Given the description of an element on the screen output the (x, y) to click on. 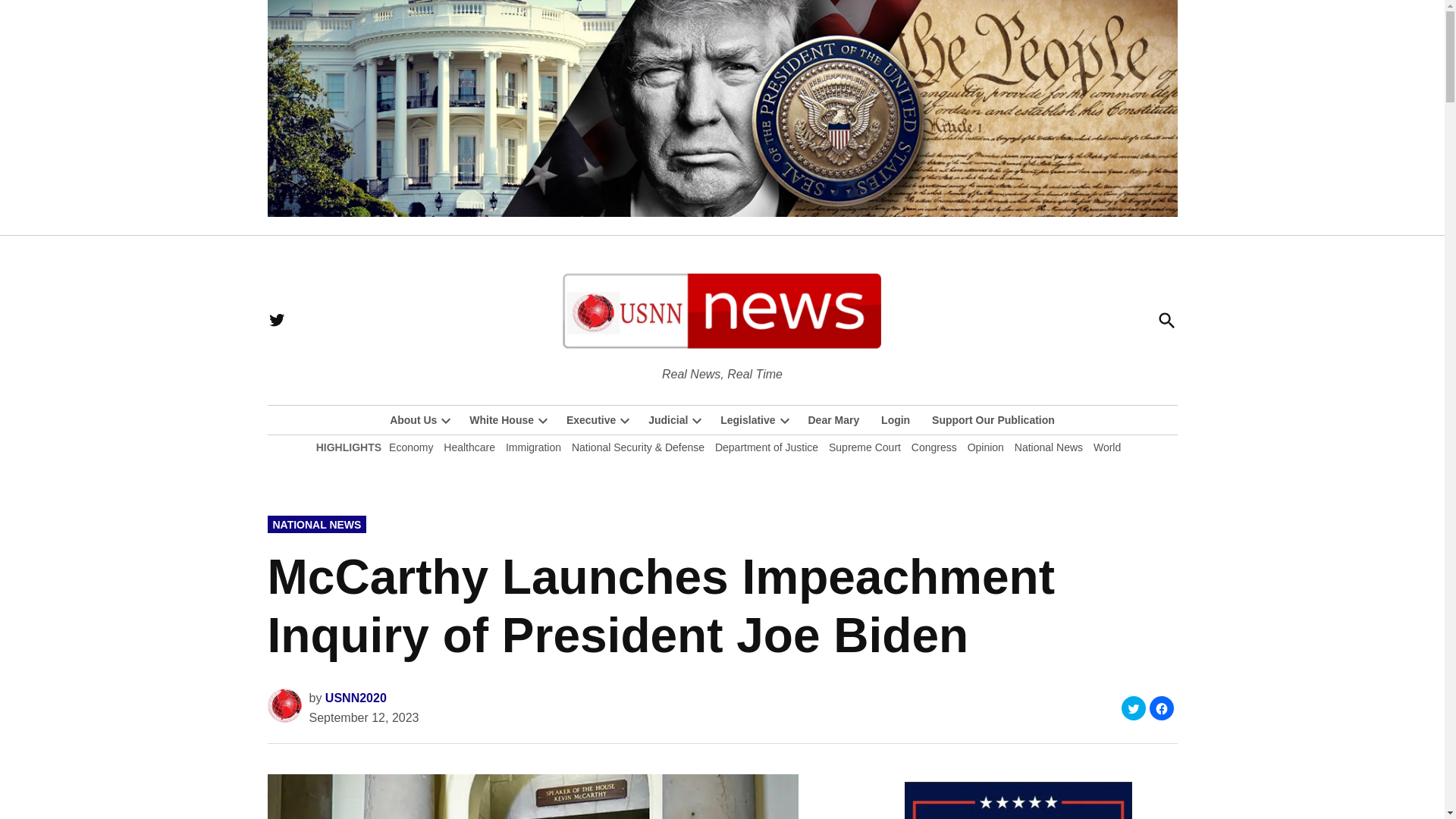
Executive (587, 419)
Open dropdown menu (542, 419)
Click to share on Facebook (1161, 708)
About Us (413, 419)
White House (497, 419)
Click to share on Twitter (1132, 708)
Twitter (275, 320)
Open dropdown menu (445, 419)
Open dropdown menu (624, 419)
USNN World News (815, 373)
Open Search (1166, 320)
